Given the description of an element on the screen output the (x, y) to click on. 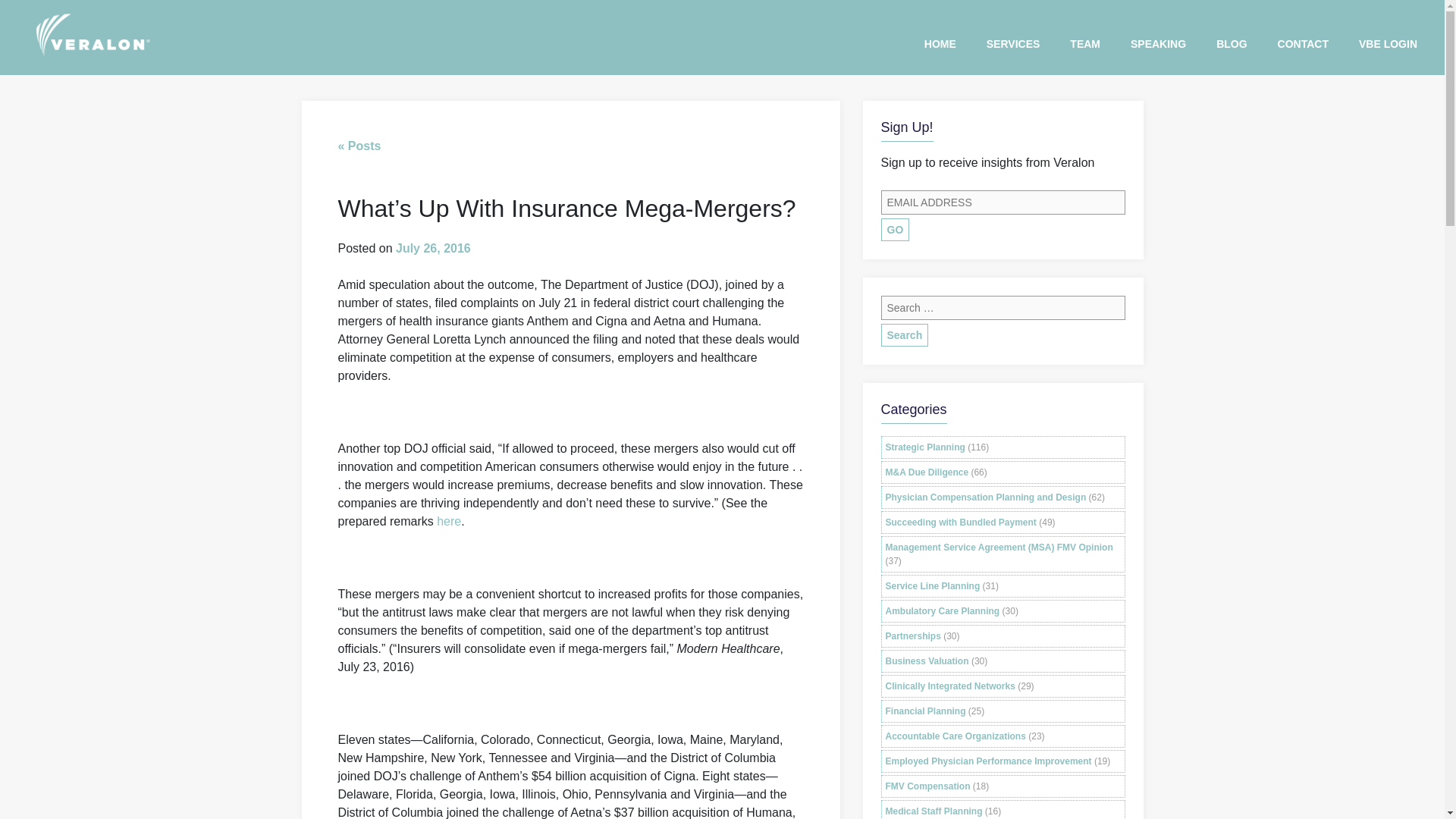
SPEAKING (1158, 45)
Search (904, 334)
here (448, 521)
VBE LOGIN (1387, 45)
Clinically Integrated Networks (949, 685)
CONTACT (1302, 45)
Physician Compensation Planning and Design (985, 497)
GO (895, 229)
HOME (940, 45)
Search (904, 334)
BLOG (1230, 45)
Succeeding with Bundled Payment (960, 522)
July 26, 2016 (433, 248)
GO (895, 229)
SERVICES (1014, 45)
